Given the description of an element on the screen output the (x, y) to click on. 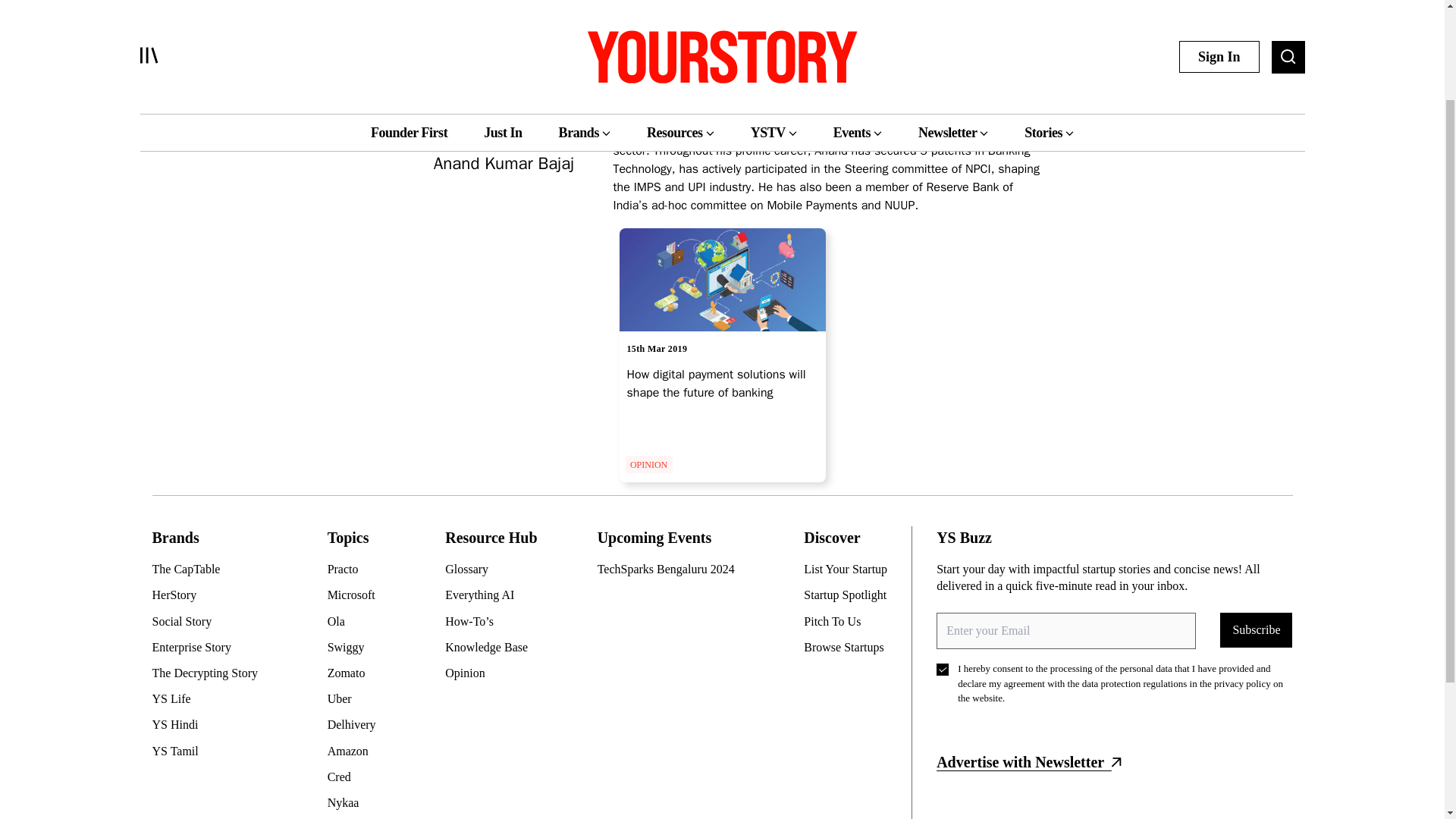
Social Story (210, 621)
Founder First (408, 8)
Everything AI (492, 595)
Amazon (357, 750)
Nykaa (357, 802)
Microsoft (357, 595)
Enterprise Story (210, 647)
Practo (357, 569)
YS Hindi (210, 724)
Glossary (492, 569)
Uber (357, 699)
HerStory (210, 595)
Just In (502, 8)
Knowledge Base (492, 647)
